Given the description of an element on the screen output the (x, y) to click on. 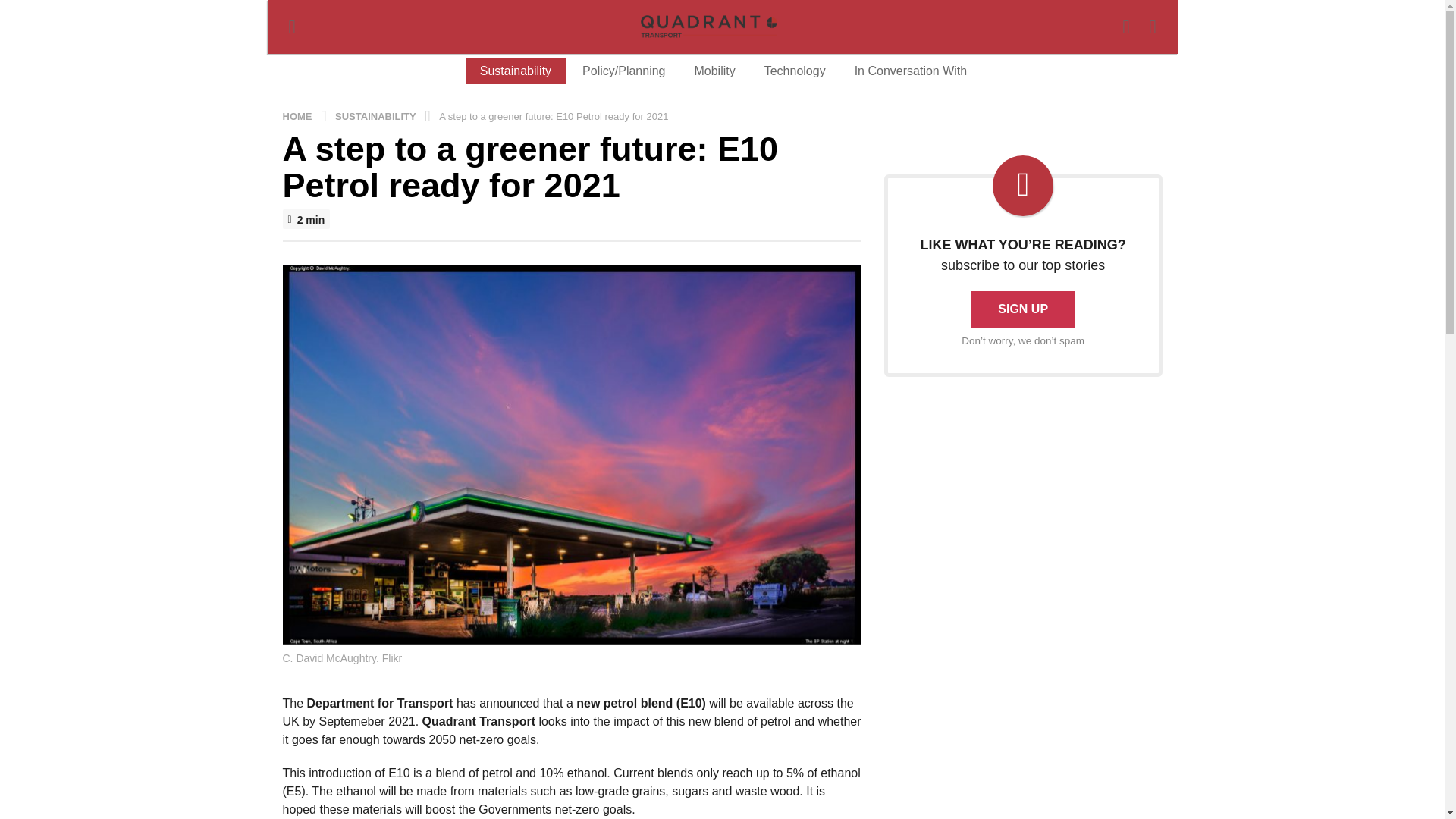
SIGN UP (1023, 309)
Mobility (713, 71)
A step to a greener future: E10 Petrol ready for 2021  (555, 115)
Technology (794, 71)
SUSTAINABILITY (376, 115)
Sustainability (515, 71)
HOME (298, 115)
Mobility (713, 71)
In Conversation With (910, 71)
In Conversation With (910, 71)
Sustainability (515, 71)
Technology (794, 71)
